Given the description of an element on the screen output the (x, y) to click on. 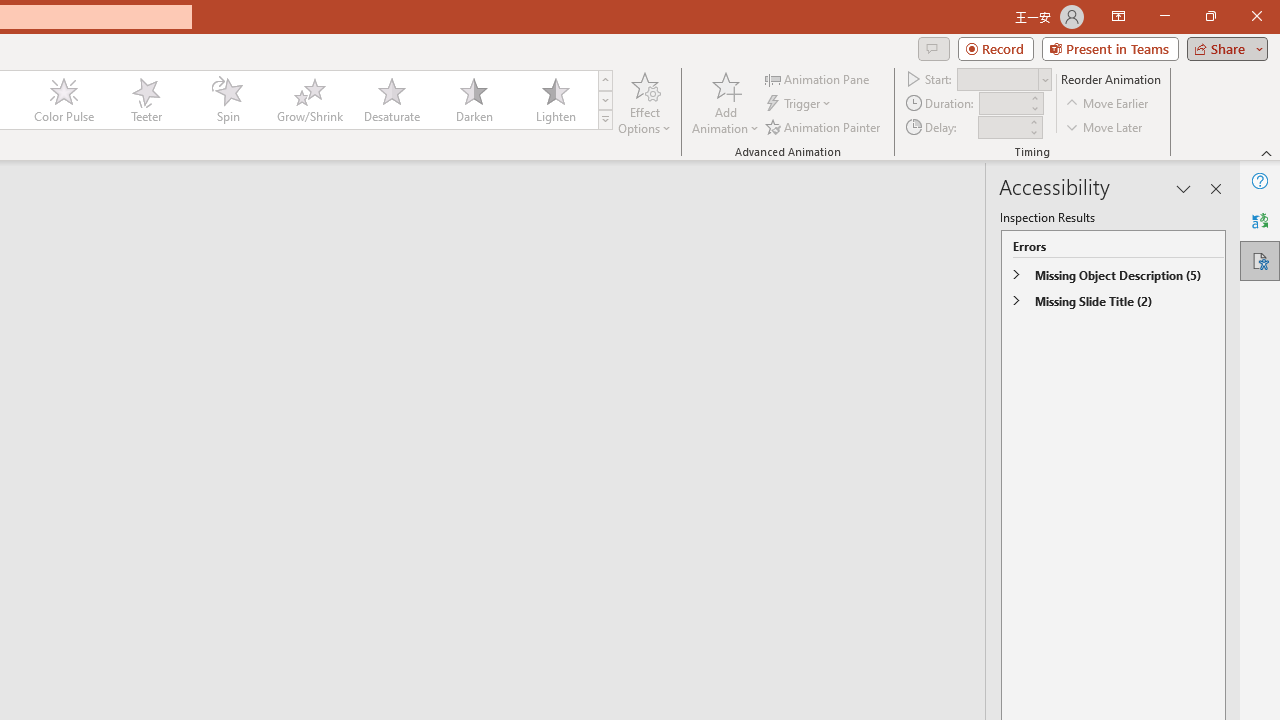
Animation Styles (605, 120)
Grow/Shrink (309, 100)
Animation Delay (1002, 127)
Desaturate (391, 100)
Lighten (555, 100)
Color Pulse (63, 100)
Teeter (145, 100)
Animation Pane (818, 78)
